Given the description of an element on the screen output the (x, y) to click on. 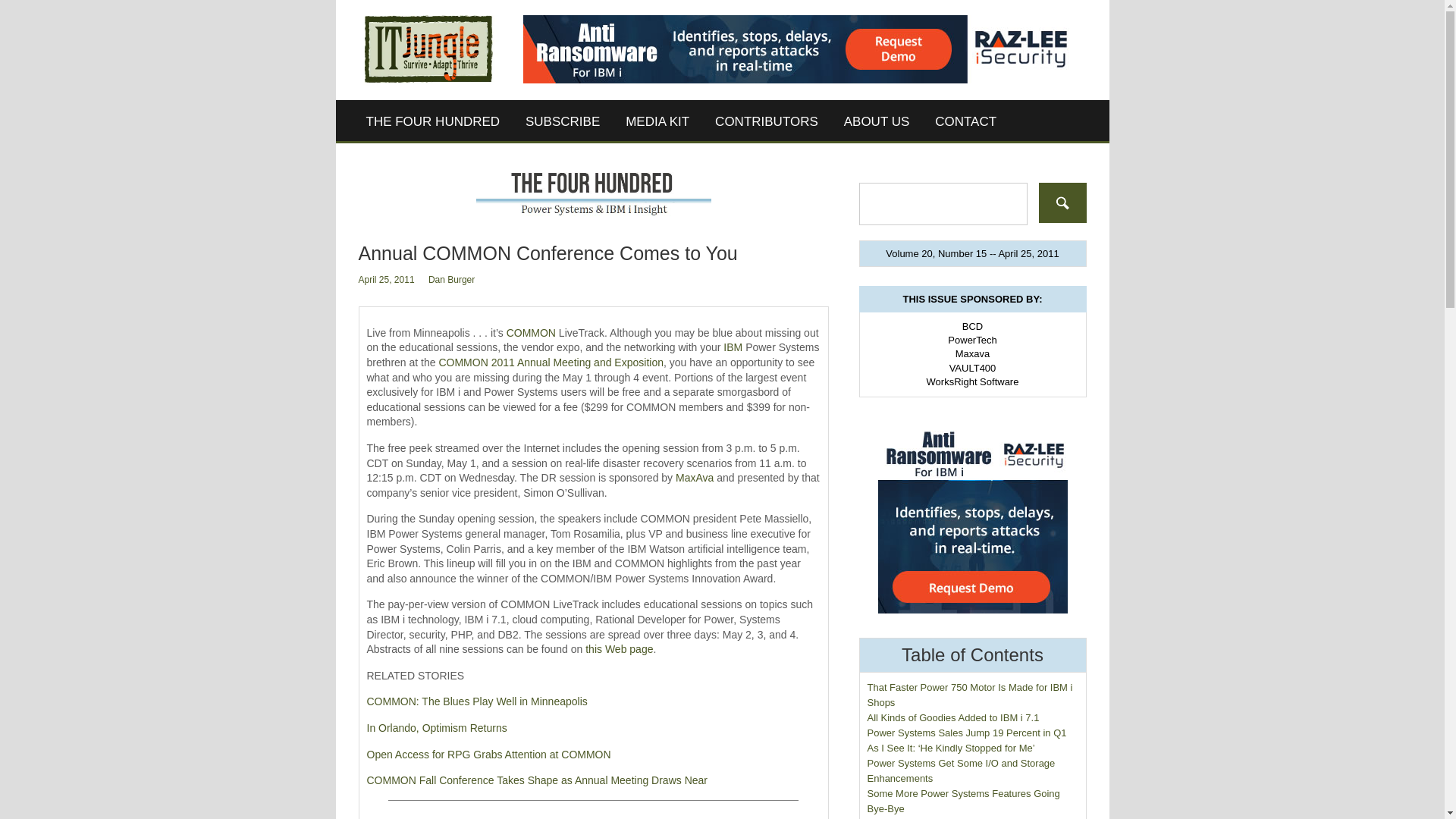
SUBSCRIBE (562, 121)
COMMON: The Blues Play Well in Minneapolis (477, 701)
CONTACT (965, 121)
THE FOUR HUNDRED (433, 121)
MaxAva (694, 477)
this Web page (618, 648)
COMMON (531, 332)
In Orlando, Optimism Returns (436, 727)
IBM (732, 346)
